Given the description of an element on the screen output the (x, y) to click on. 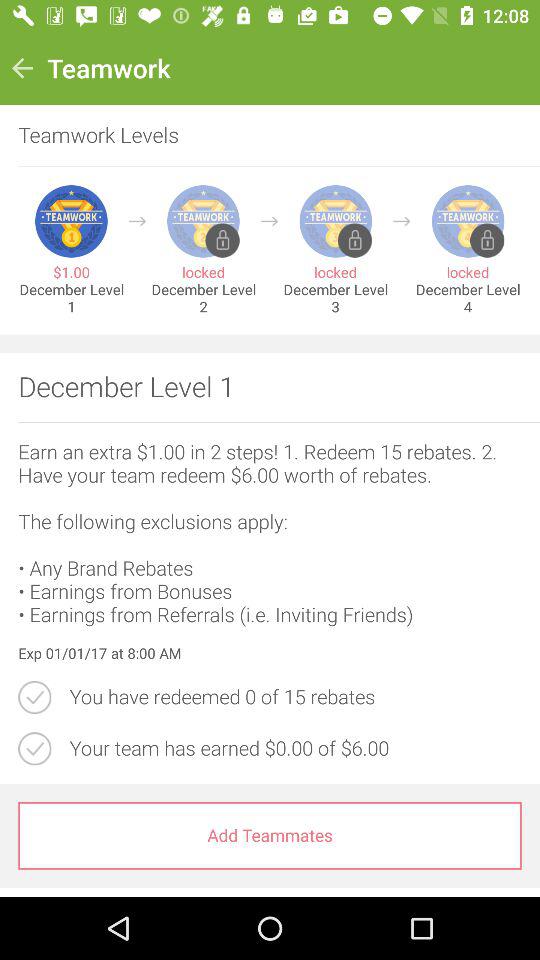
turn on add teammates item (269, 835)
